Given the description of an element on the screen output the (x, y) to click on. 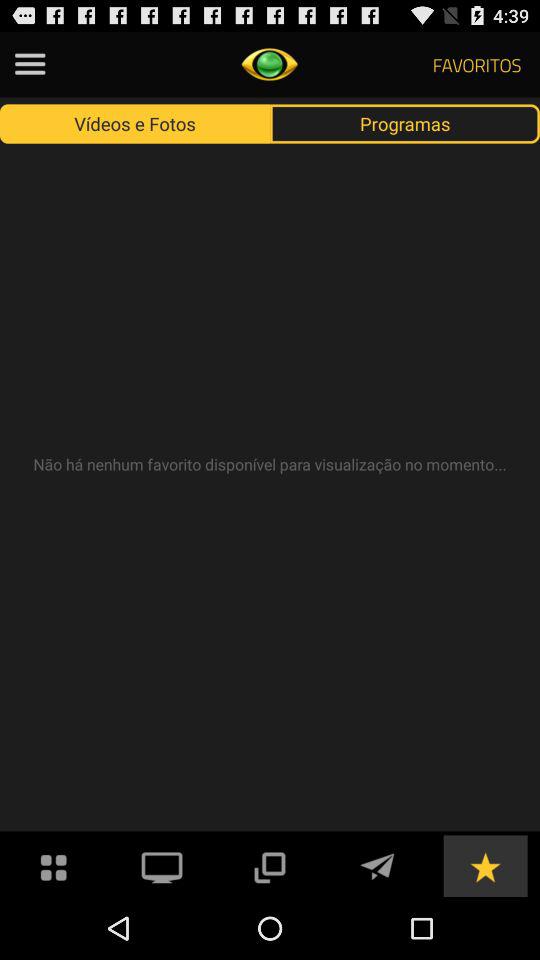
flip until the programas button (405, 123)
